Given the description of an element on the screen output the (x, y) to click on. 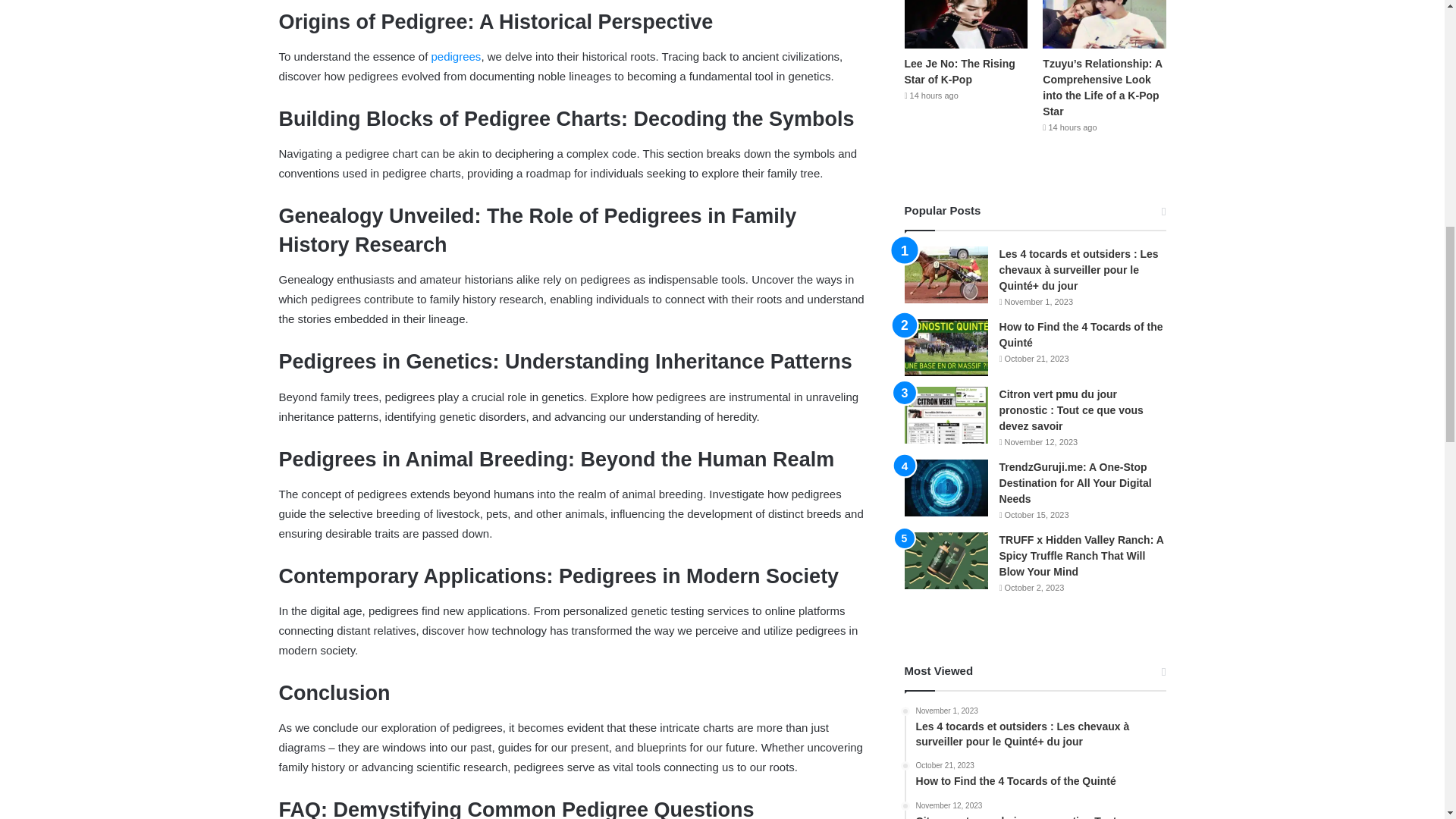
pedigrees (454, 56)
